Given the description of an element on the screen output the (x, y) to click on. 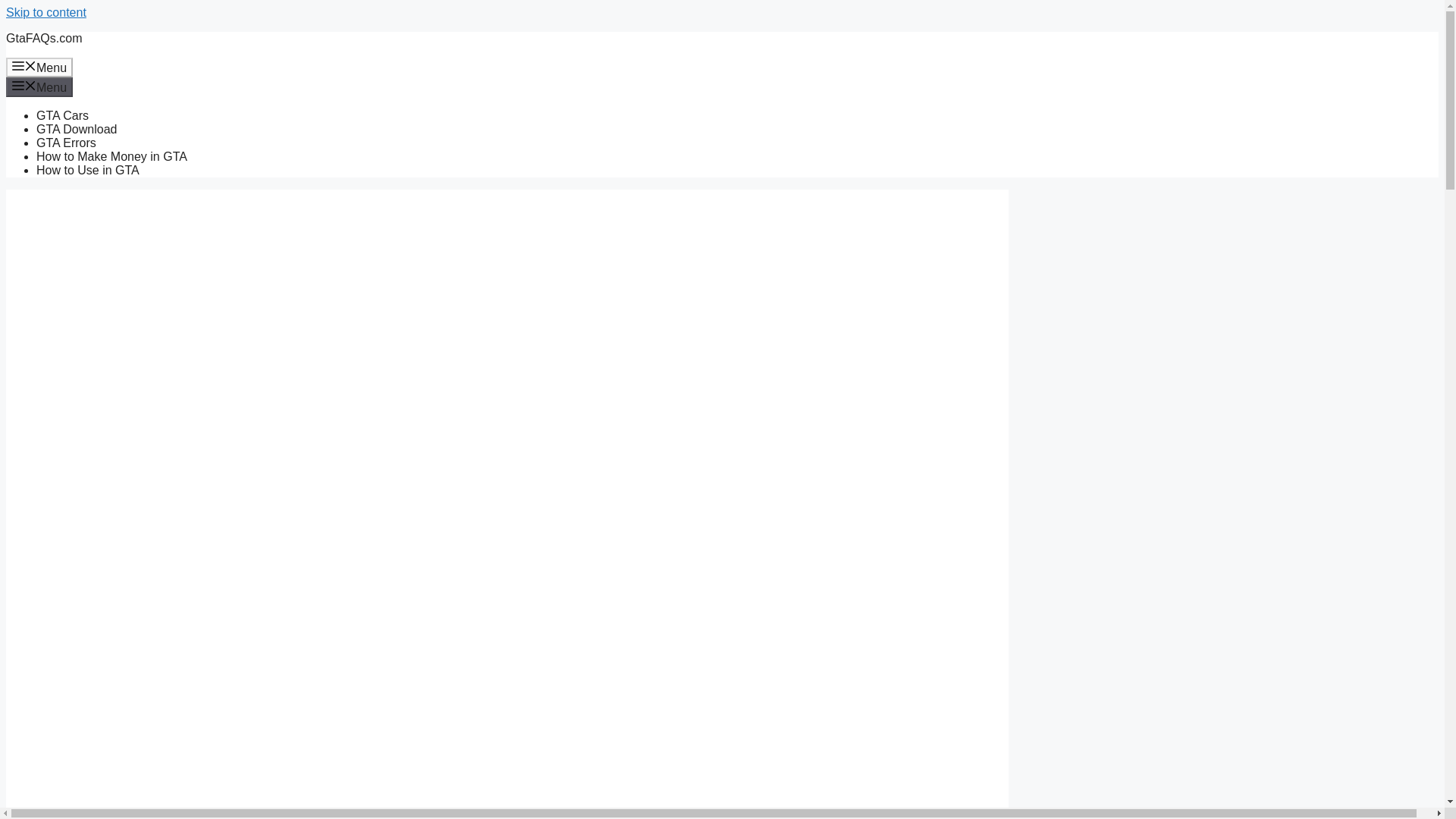
Skip to content (45, 11)
GTA Download (76, 128)
GTA Cars (62, 115)
Menu (38, 86)
GTA Errors (66, 142)
How to Use in GTA (87, 169)
GtaFAQs.com (43, 38)
Skip to content (45, 11)
How to Make Money in GTA (111, 155)
Menu (38, 66)
